Given the description of an element on the screen output the (x, y) to click on. 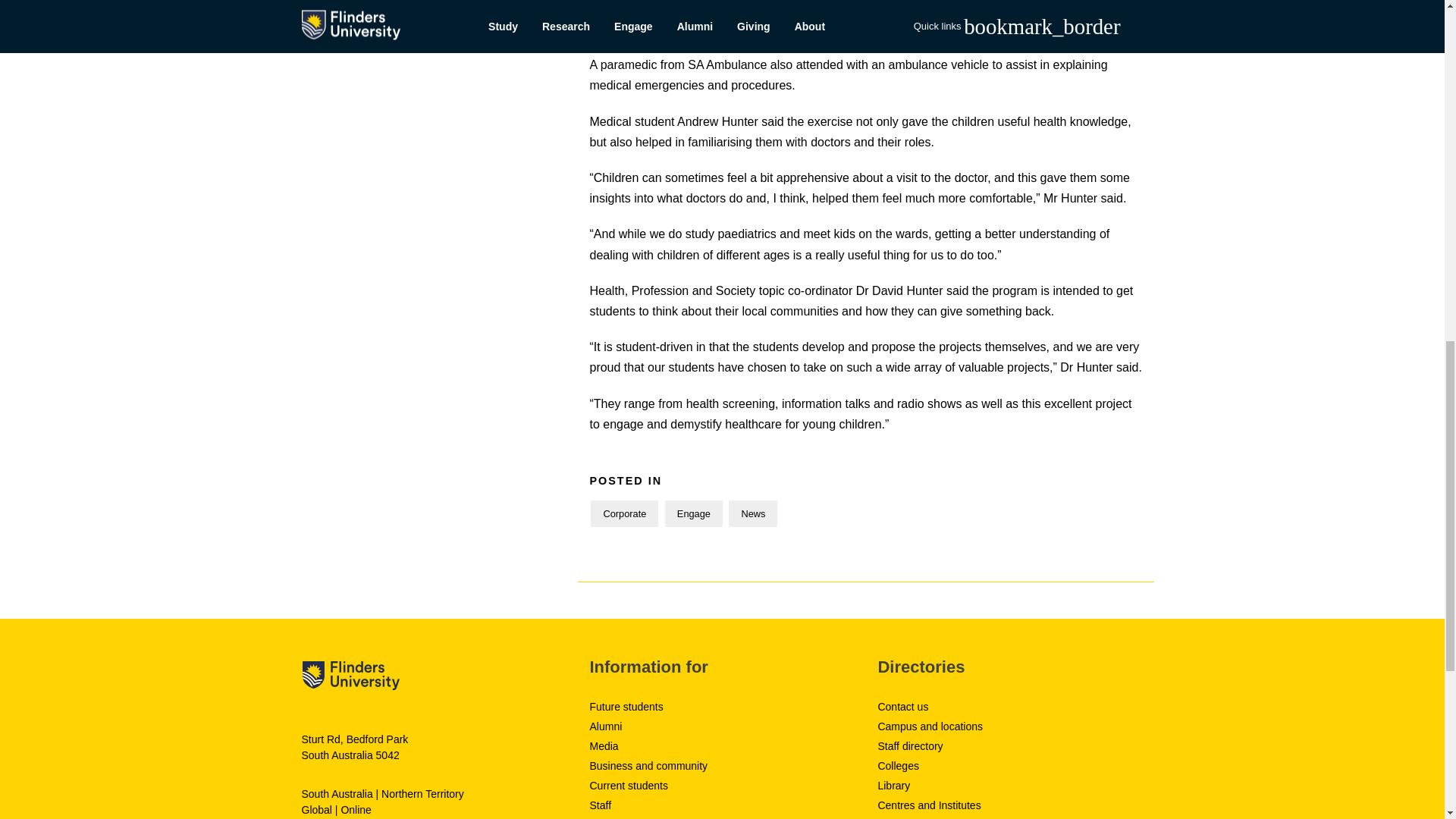
News (753, 513)
Corporate (624, 513)
Engage (693, 513)
